Given the description of an element on the screen output the (x, y) to click on. 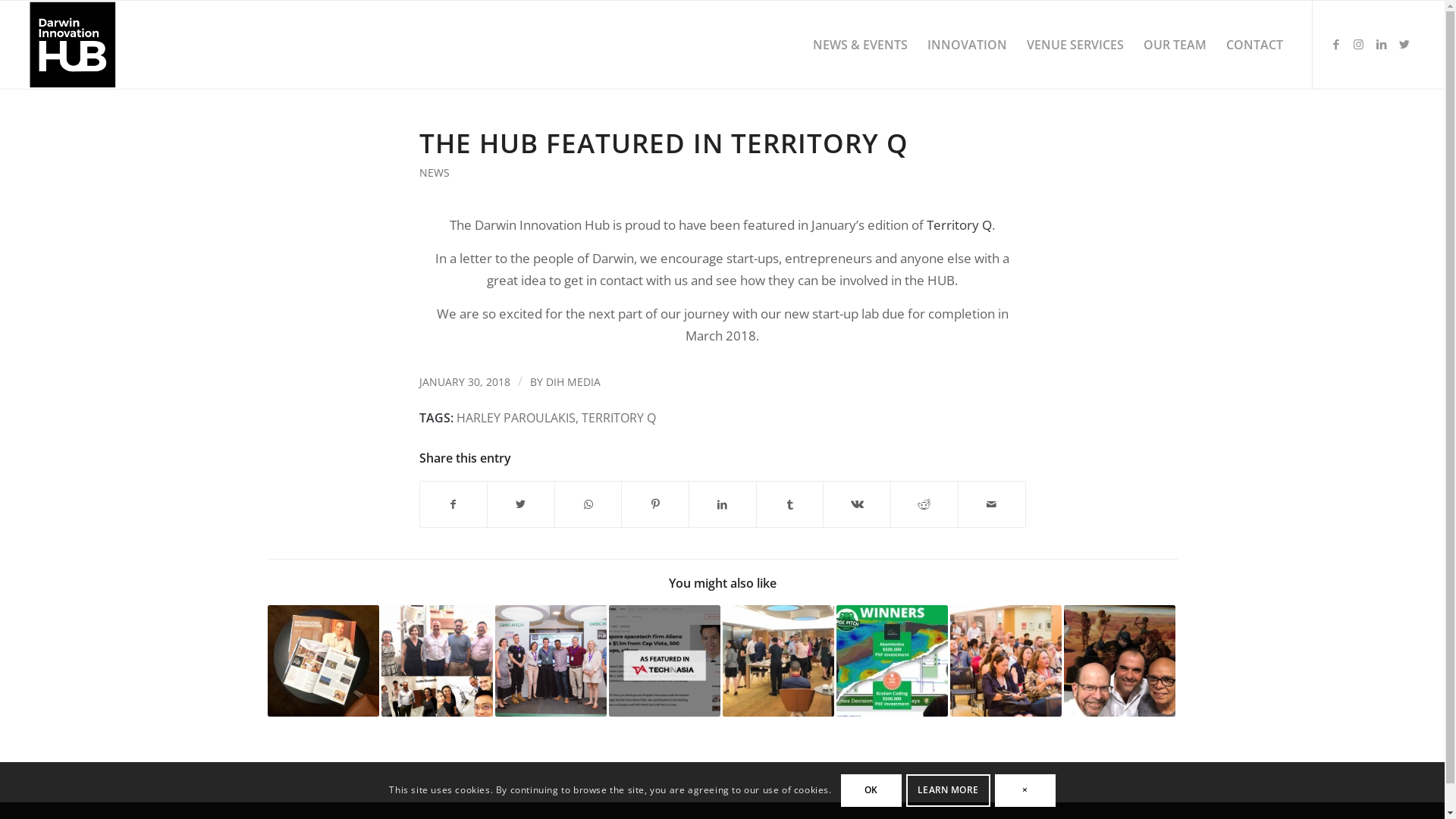
HARLEY PAROULAKIS Element type: text (515, 417)
TERRITORY Q Element type: text (617, 417)
Croc Pitch 2019 Element type: hover (549, 660)
Croc Pitch 2022 Winners!! Element type: hover (891, 660)
DIH MEDIA Element type: text (573, 381)
Instagram Element type: hover (1358, 43)
One Belt One Road Networking Drinks Element type: hover (777, 660)
Territory Q Element type: text (958, 224)
LinkedIn Element type: hover (1381, 43)
LEARN MORE Element type: text (948, 790)
OUR TEAM Element type: text (1174, 44)
Tribal Abduction Element type: hover (1118, 660)
Astropreneurs Element type: hover (436, 660)
OK Element type: text (870, 790)
Facebook Element type: hover (1335, 43)
NEWS & EVENTS Element type: text (860, 44)
VENUE SERVICES Element type: text (1074, 44)
INNOVATION Element type: text (966, 44)
NEWS Element type: text (433, 172)
Uber Air featured in Territory Q Element type: hover (322, 660)
CONTACT Element type: text (1254, 44)
Twitter Element type: hover (1404, 43)
Croc Pitch 2018 Element type: hover (1004, 660)
